Given the description of an element on the screen output the (x, y) to click on. 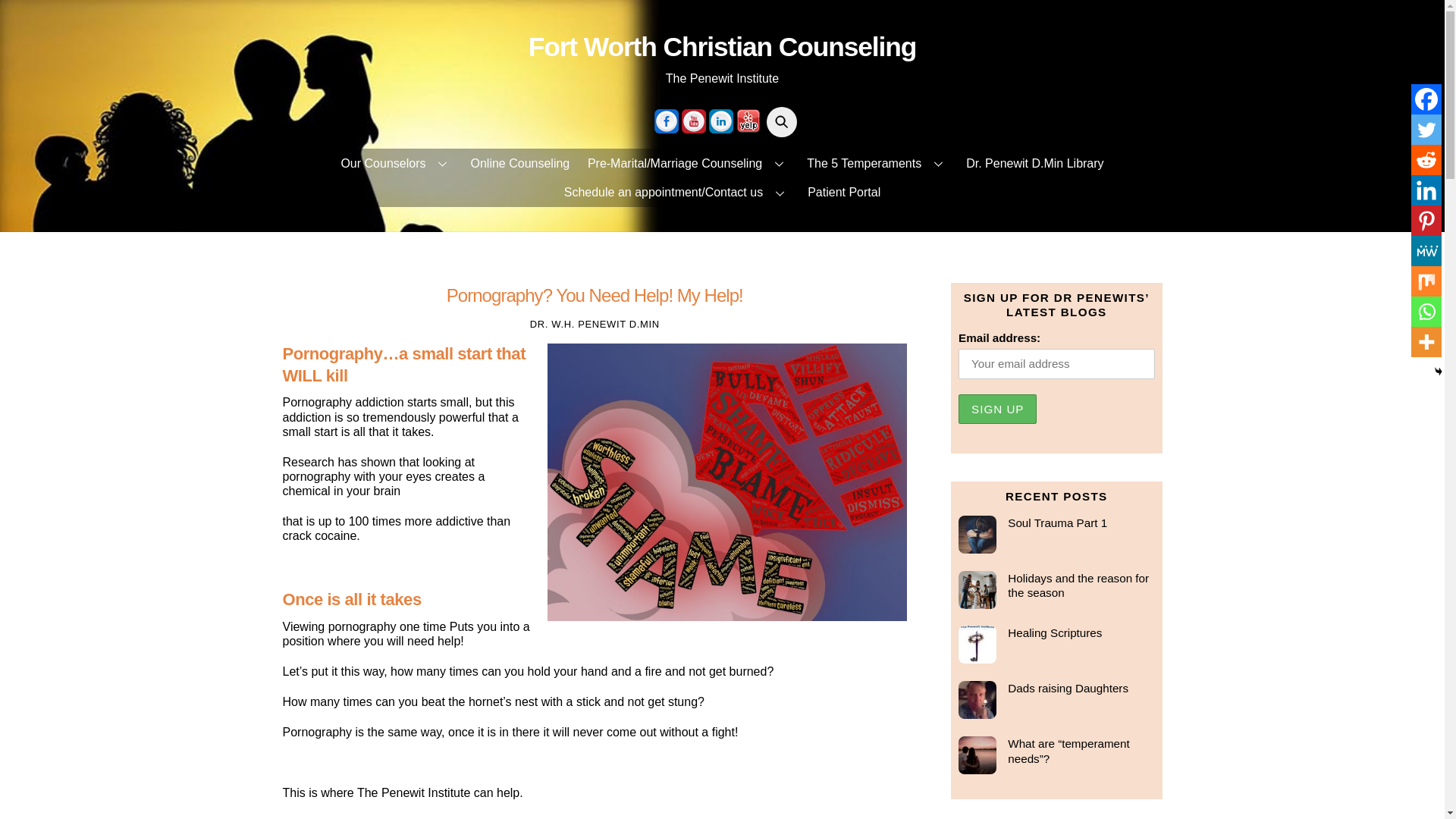
Linkedin (1425, 190)
More (1425, 341)
Facebook (1425, 99)
Sign up (997, 409)
Fort Worth Christian Counseling (722, 46)
Online Counseling (519, 162)
Patient Portal (844, 192)
Pornography? You need help! My help! 1 (727, 481)
Our Counselors (396, 162)
Whatsapp (1425, 311)
